Given the description of an element on the screen output the (x, y) to click on. 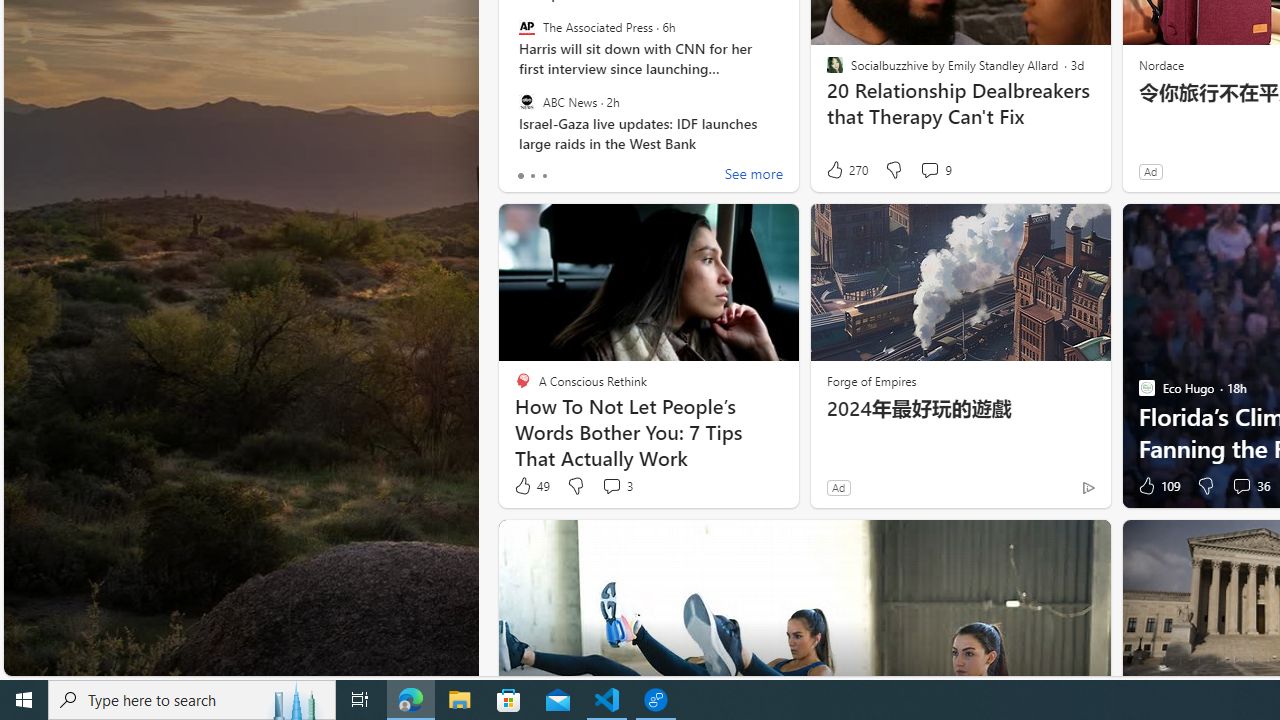
View comments 3 Comment (611, 485)
Ad (838, 487)
ABC News (526, 101)
270 Like (845, 170)
Forge of Empires (870, 380)
49 Like (531, 485)
See more (753, 175)
View comments 9 Comment (935, 170)
View comments 3 Comment (616, 485)
109 Like (1157, 485)
tab-2 (543, 175)
View comments 36 Comment (1249, 485)
